Given the description of an element on the screen output the (x, y) to click on. 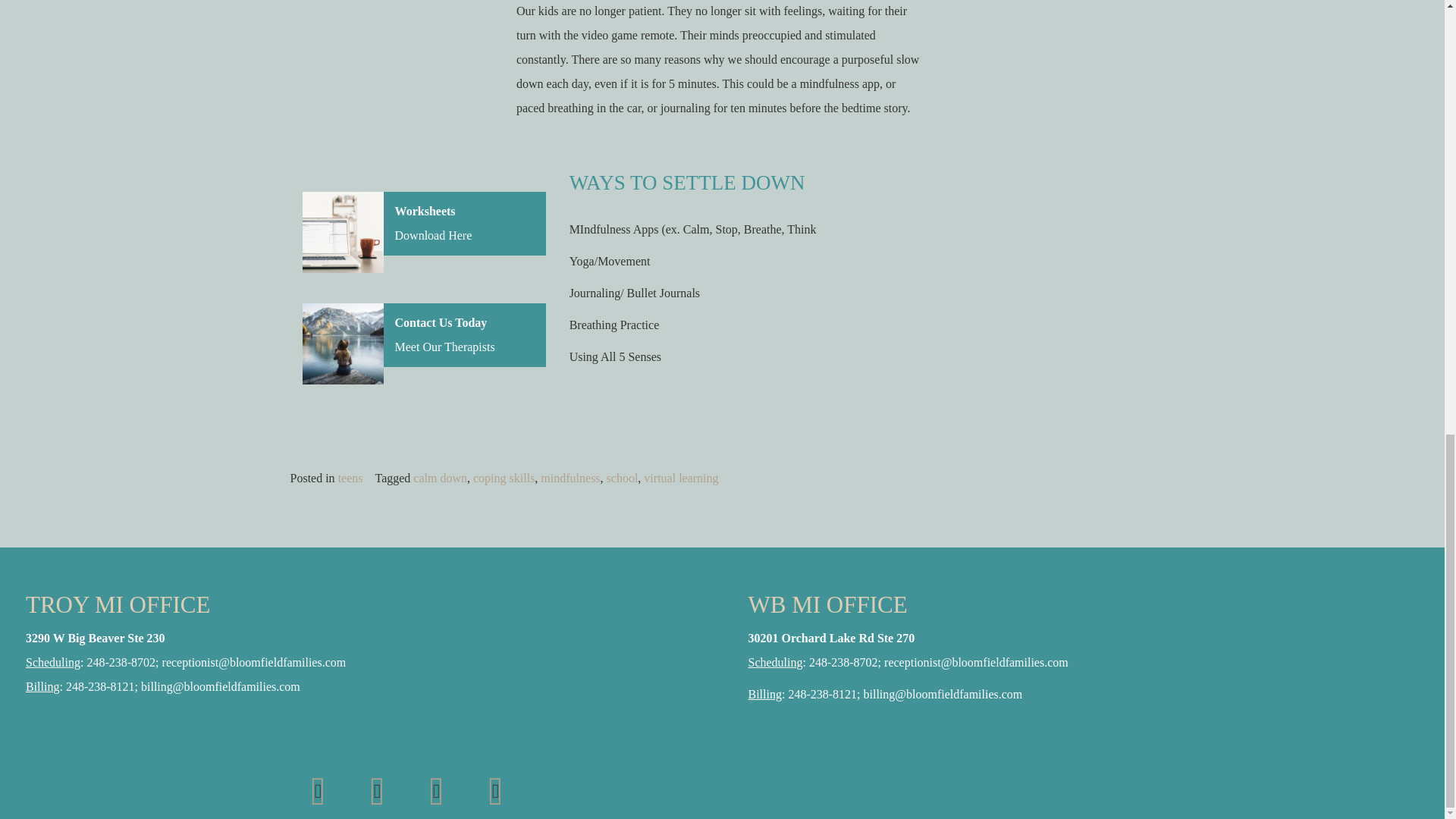
virtual learning (680, 477)
TWITTER (495, 790)
calm down (440, 477)
INSTAGRAM (318, 790)
LINKEDIN (436, 790)
Download Here (432, 235)
Meet Our Therapists (444, 346)
school (623, 477)
coping skills (503, 477)
Instagram (318, 790)
teens (349, 477)
FACEBOOK (377, 790)
mindfulness (569, 477)
